Given the description of an element on the screen output the (x, y) to click on. 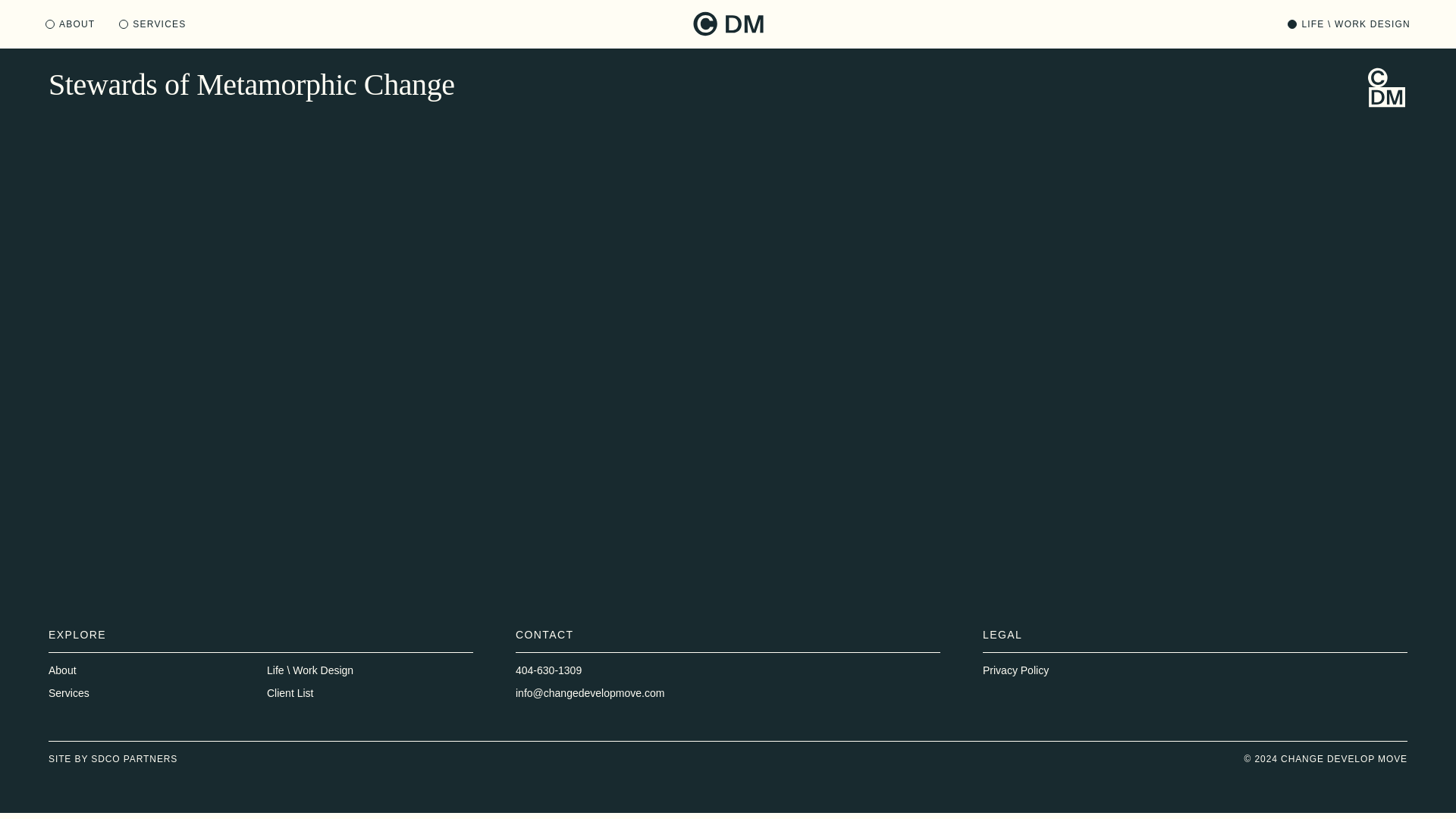
About (62, 670)
SITE BY SDCO PARTNERS (112, 758)
Client List (289, 693)
Services (68, 693)
404-630-1309 (547, 670)
Privacy Policy (1015, 670)
